Given the description of an element on the screen output the (x, y) to click on. 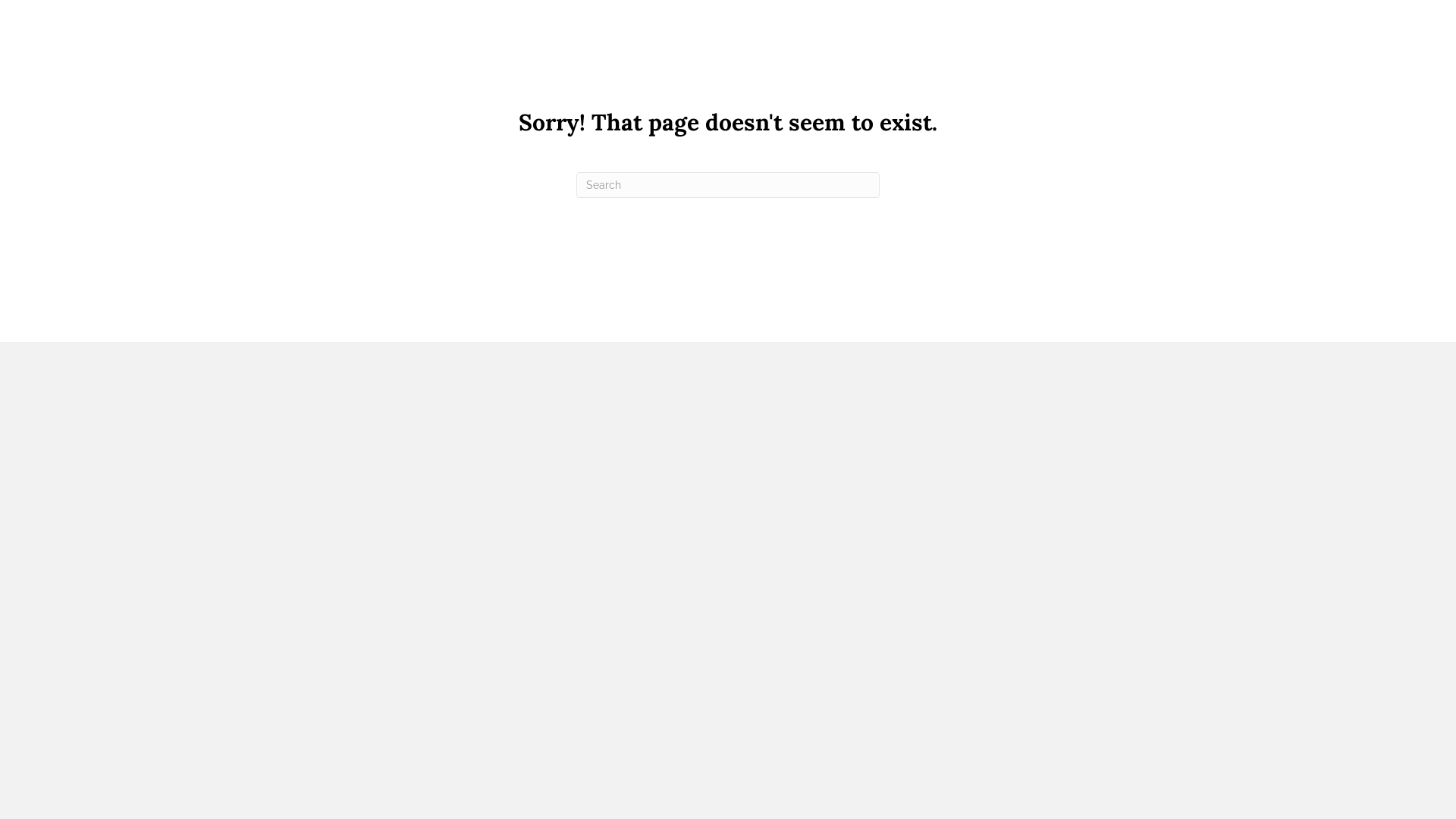
Type and press Enter to search. Element type: hover (727, 184)
